Given the description of an element on the screen output the (x, y) to click on. 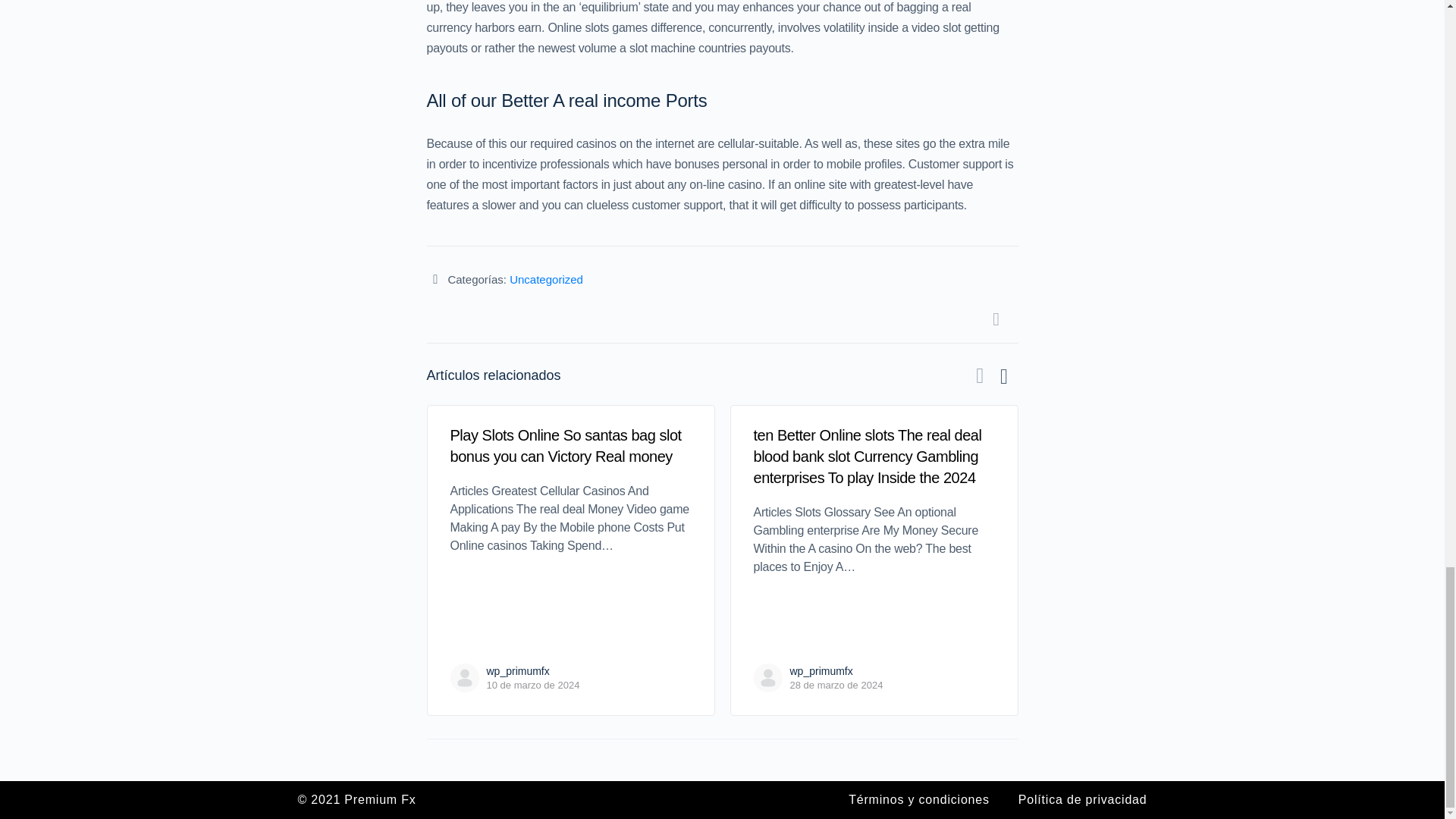
Uncategorized (546, 278)
